Given the description of an element on the screen output the (x, y) to click on. 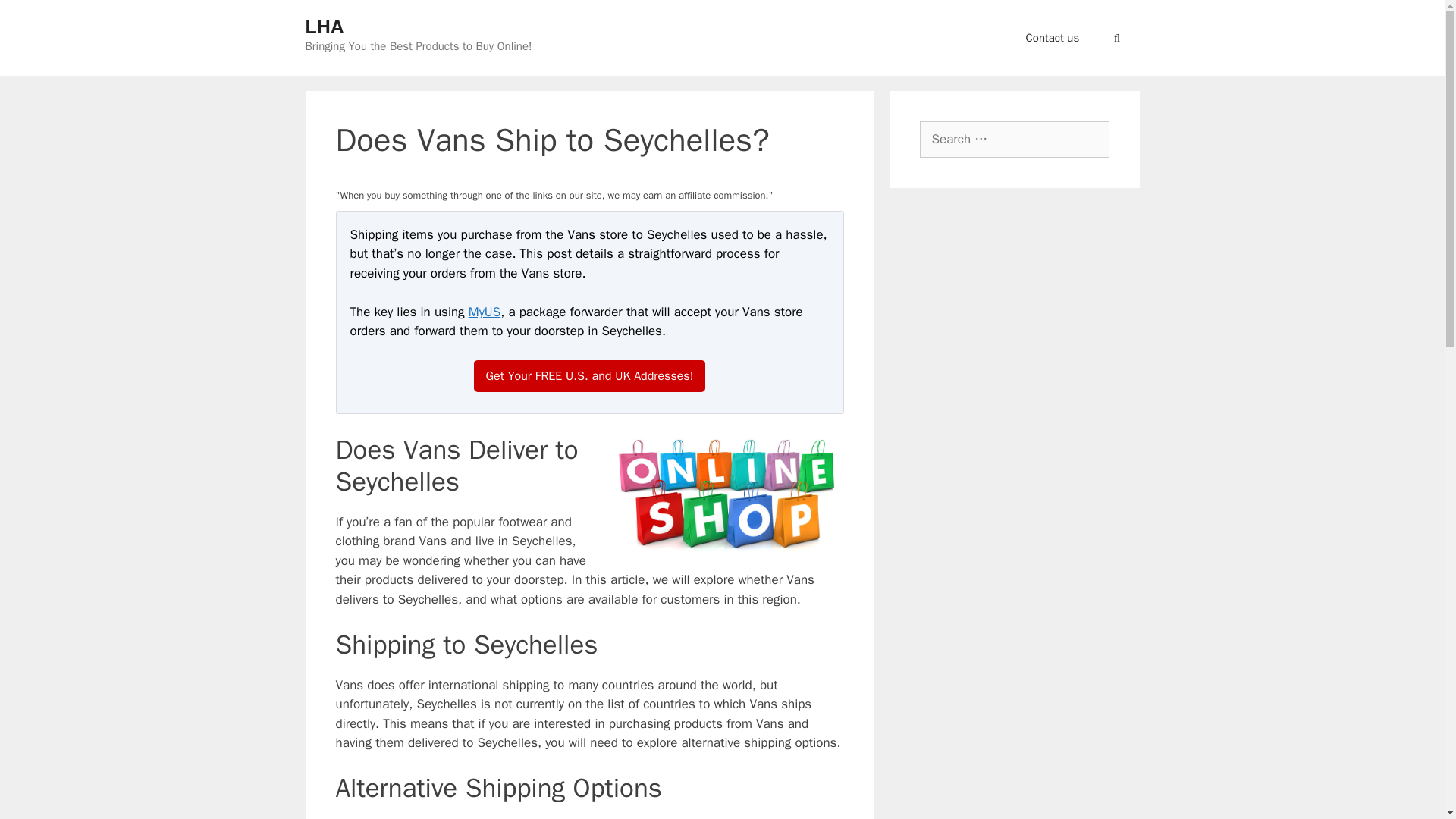
LHA (323, 25)
Get Your FREE U.S. and UK Addresses! (590, 376)
Contact us (1052, 37)
MyUS (484, 311)
Search for: (1013, 139)
Search (33, 15)
